Given the description of an element on the screen output the (x, y) to click on. 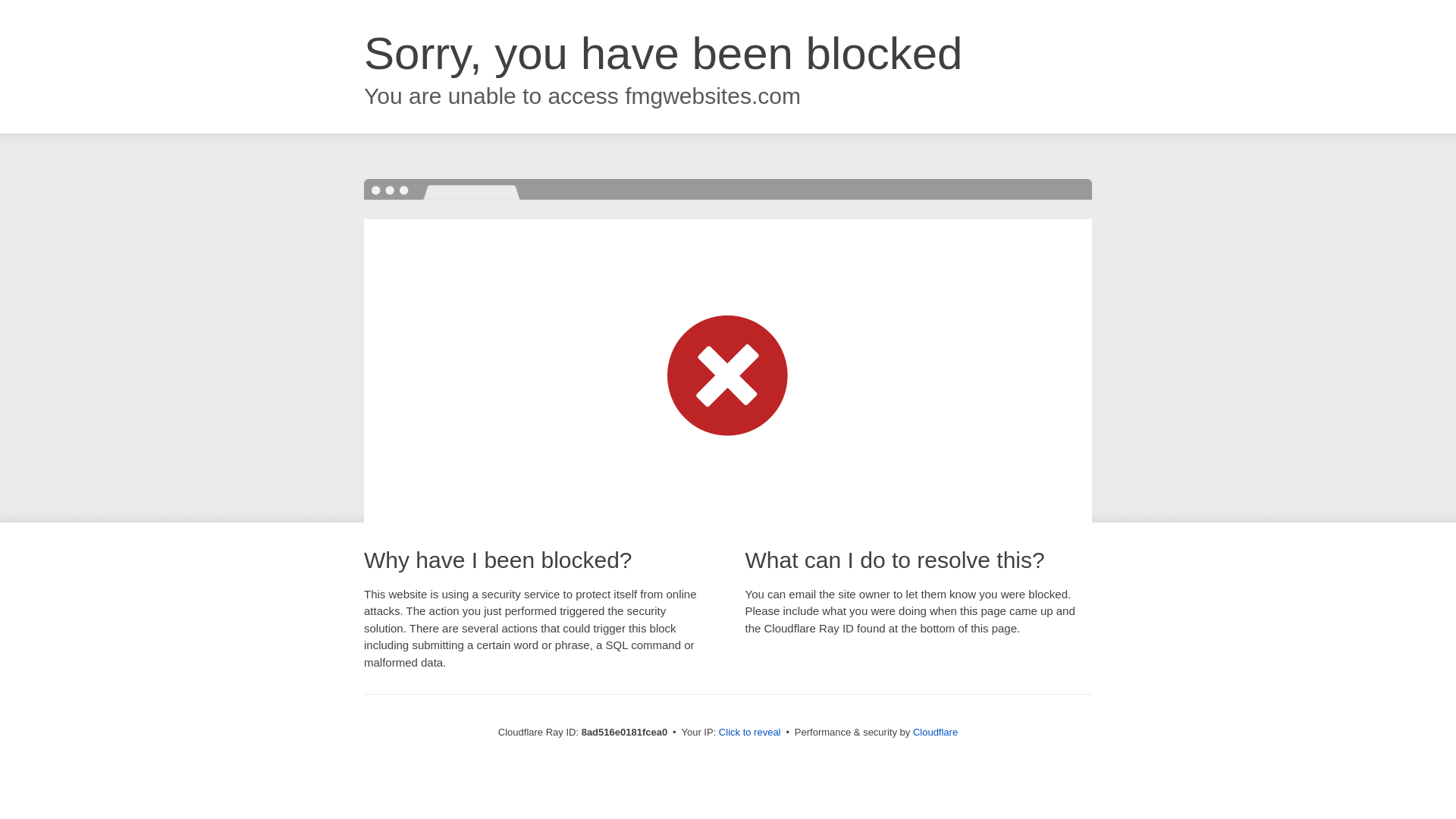
Cloudflare (935, 731)
Click to reveal (749, 732)
